Given the description of an element on the screen output the (x, y) to click on. 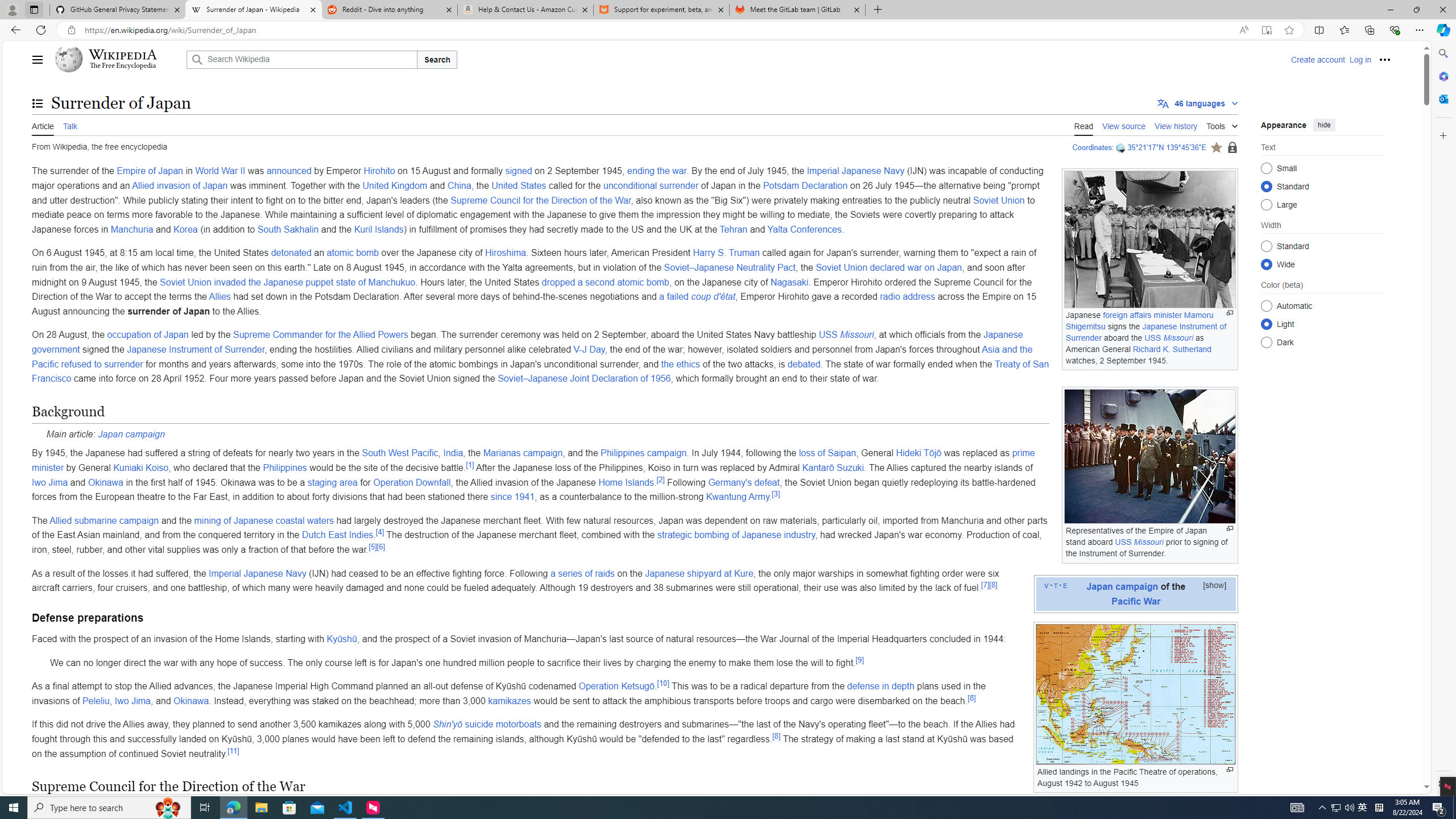
Talk (69, 124)
hide (1324, 124)
a series of raids (582, 573)
Philippines (284, 467)
Philippines campaign (643, 452)
[6] (380, 546)
Coordinates (1091, 146)
Article (42, 124)
Japanese government (527, 342)
Standard (1266, 245)
